Given the description of an element on the screen output the (x, y) to click on. 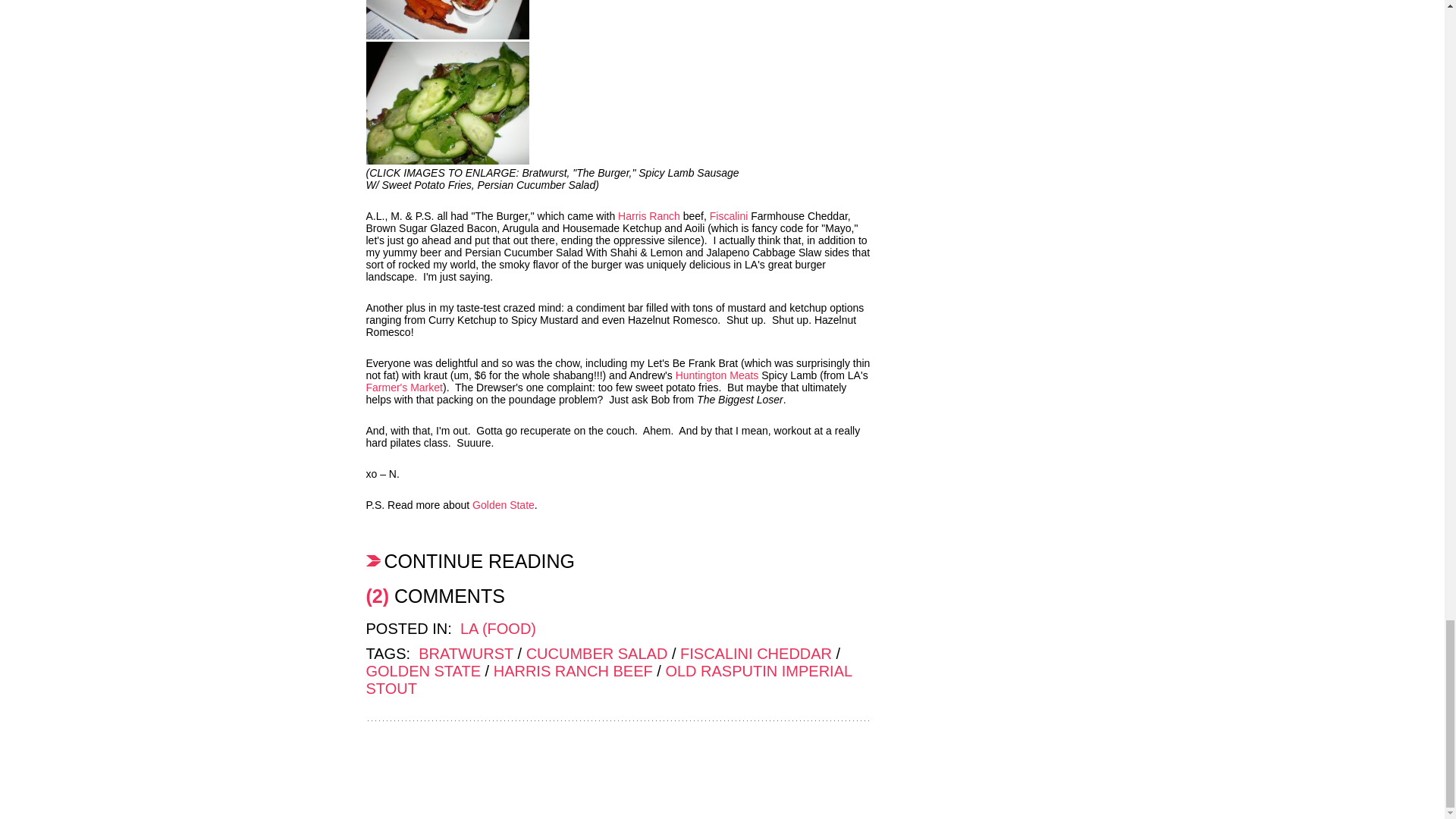
OLD RASPUTIN IMPERIAL STOUT (608, 679)
Huntington Meats (716, 375)
CONTINUE READING (617, 560)
GOLDEN STATE (422, 670)
Fiscalini (729, 215)
BRATWURST (466, 653)
Harris Ranch (648, 215)
CUCUMBER SALAD (596, 653)
HARRIS RANCH BEEF (572, 670)
Farmer's Market (403, 387)
FISCALINI CHEDDAR (755, 653)
Golden State (502, 504)
